Given the description of an element on the screen output the (x, y) to click on. 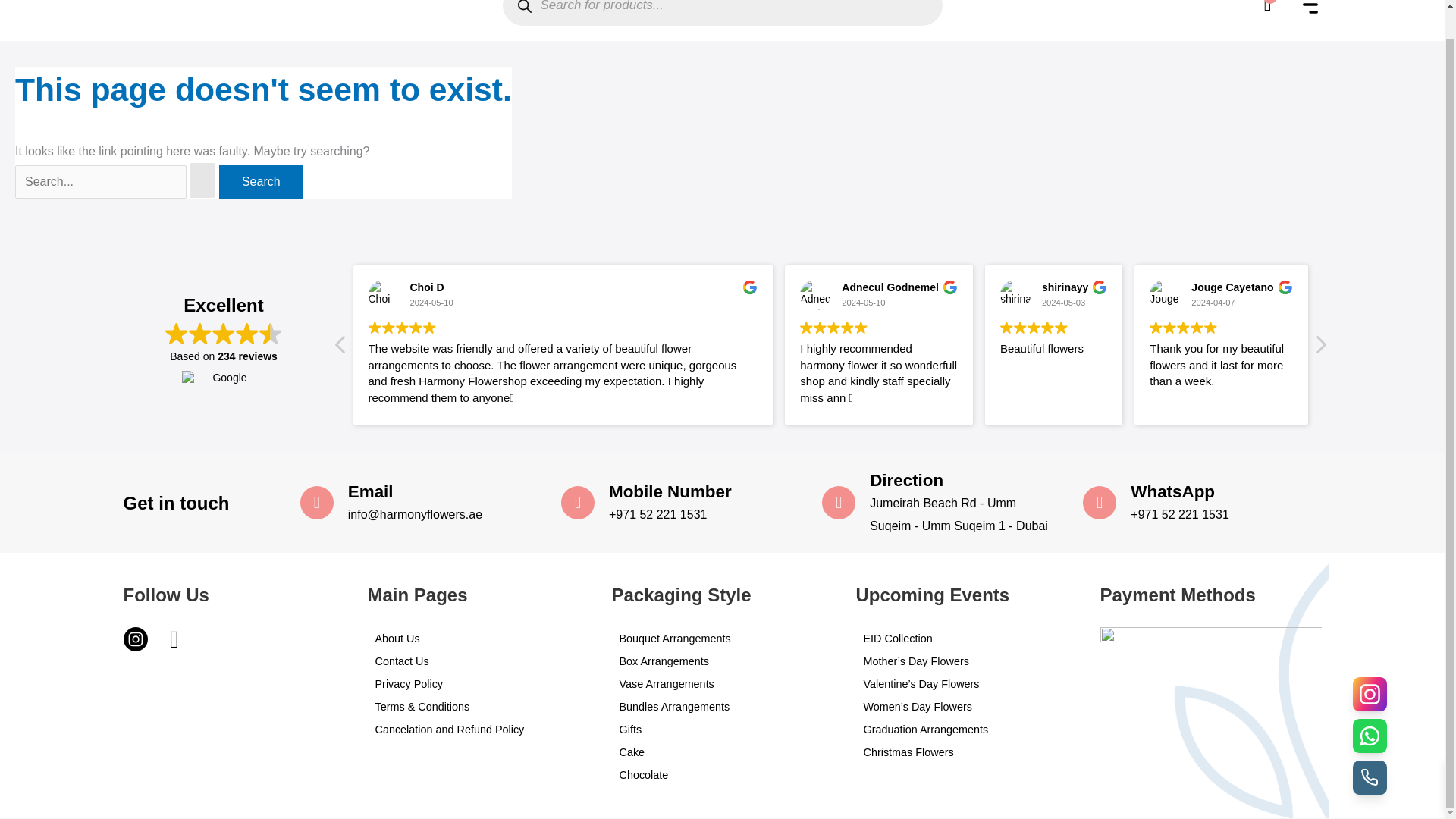
Bundles Arrangements (721, 706)
Search (260, 181)
Cancelation and Refund Policy (477, 729)
Christmas Flowers (966, 752)
EID Collection (966, 638)
Contact Us (477, 661)
Privacy Policy (477, 683)
Gifts (721, 729)
Whatsapp (175, 641)
About Us (477, 638)
Bouquet Arrangements (721, 638)
Direction (906, 479)
Mobile Number (670, 491)
Graduation Arrangements (966, 729)
WhatsApp (1172, 491)
